Given the description of an element on the screen output the (x, y) to click on. 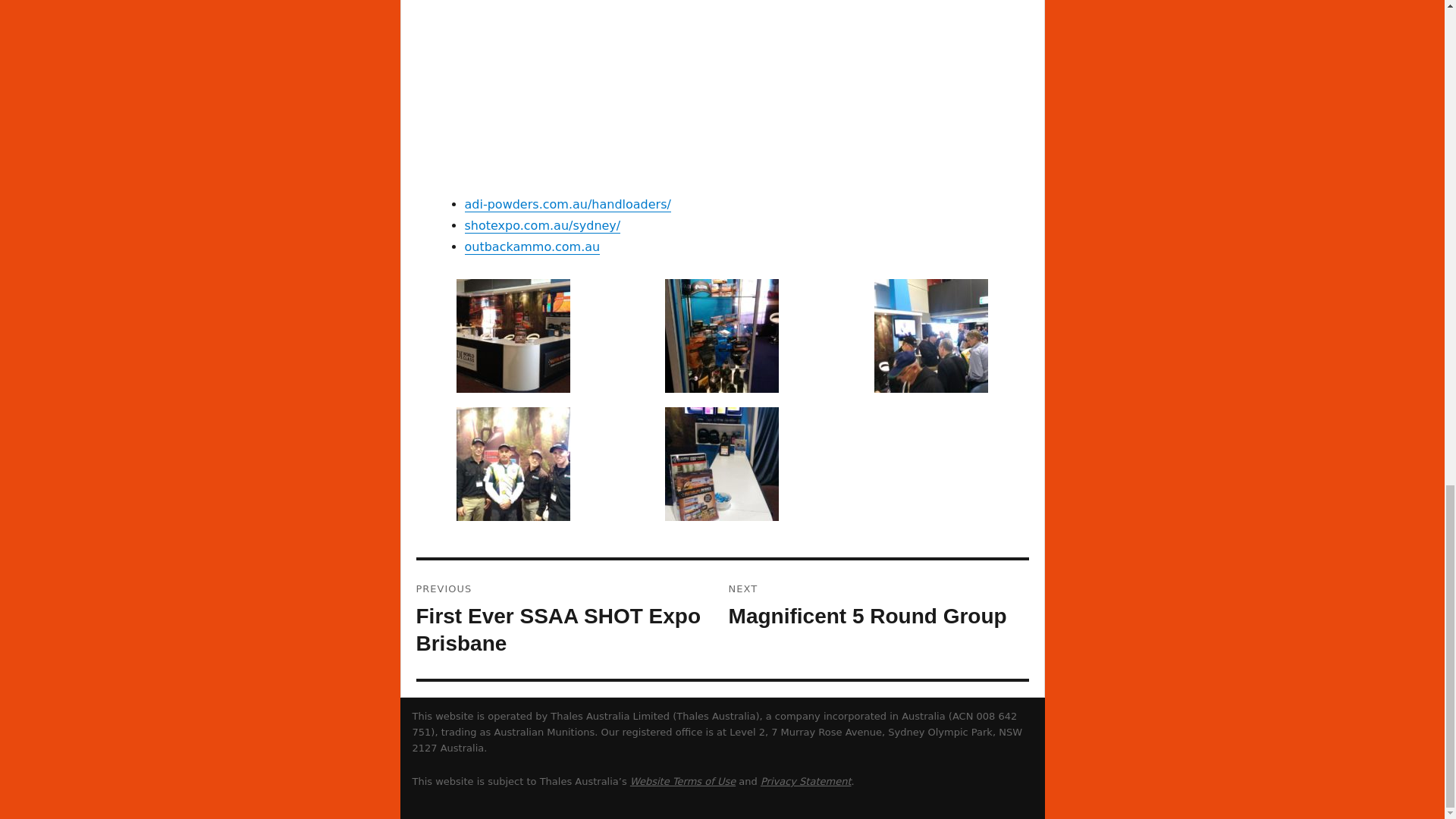
outbackammo.com.au (879, 605)
Privacy Statement (565, 619)
Website Terms of Use (531, 246)
